Given the description of an element on the screen output the (x, y) to click on. 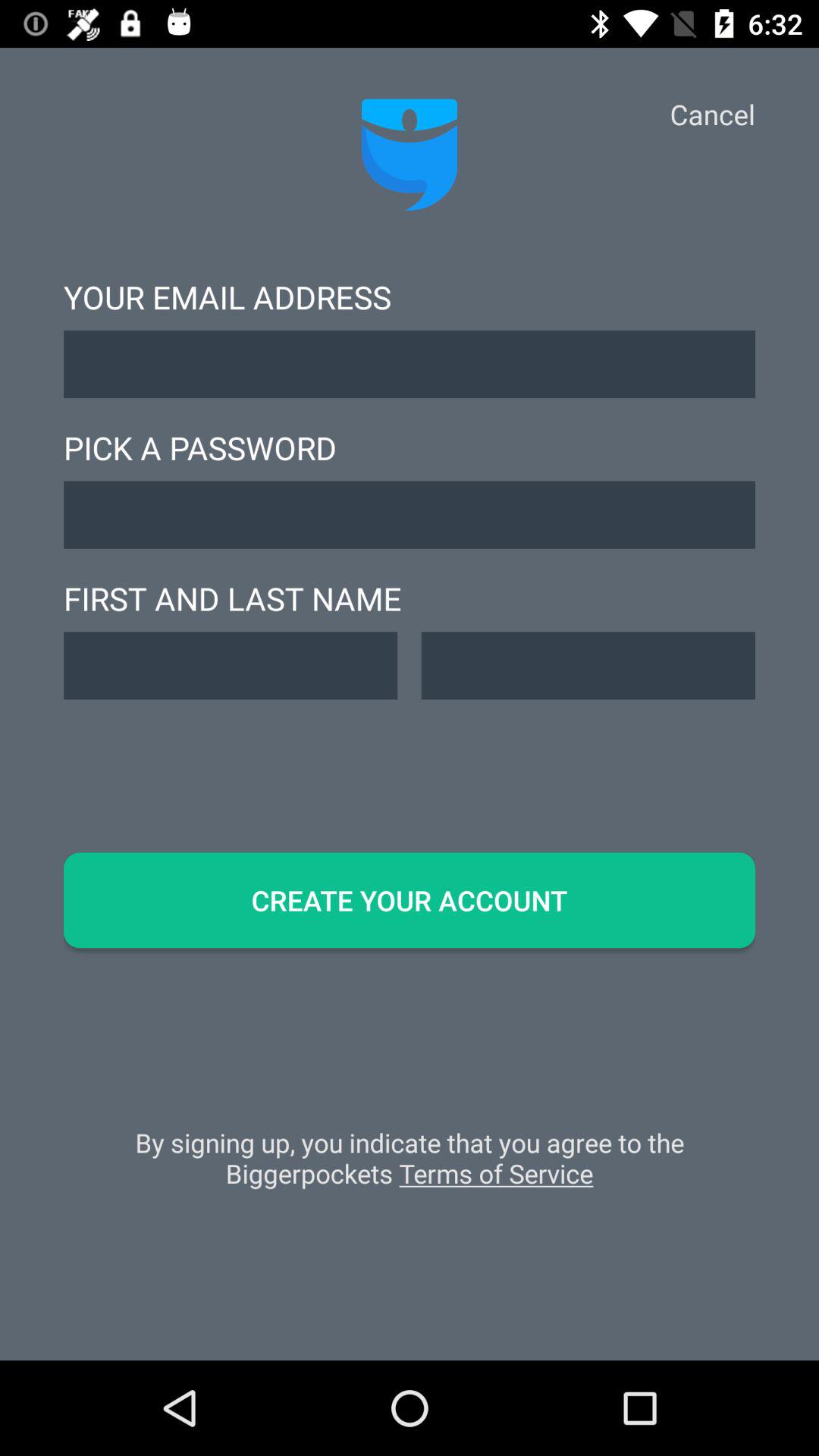
launch cancel app (712, 114)
